Given the description of an element on the screen output the (x, y) to click on. 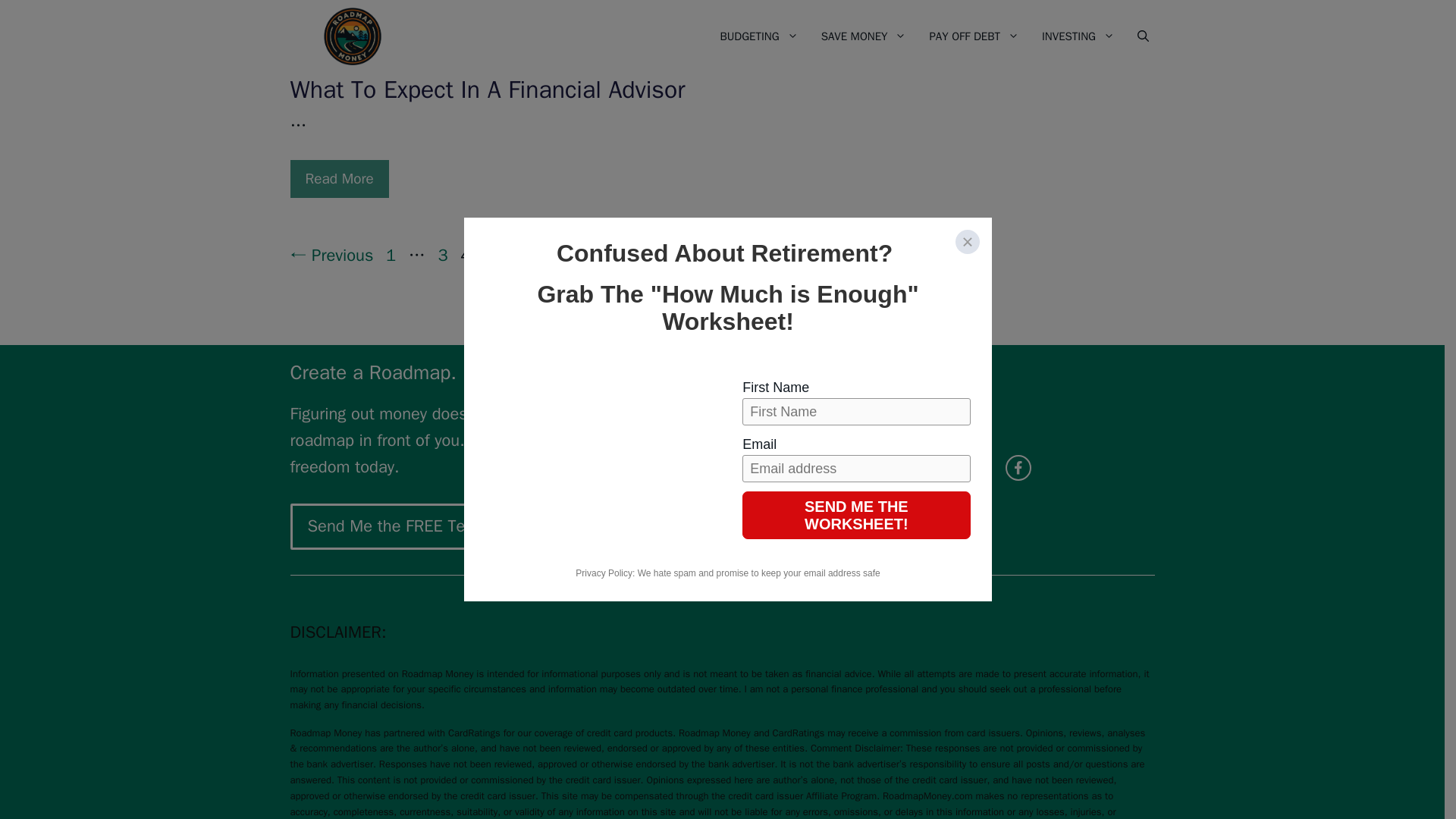
Read More (338, 178)
What To Expect In A Financial Advisor (338, 178)
Send Me the FREE Template! (413, 526)
INVESTING (1077, 36)
PAY OFF DEBT (973, 36)
What To Expect In A Financial Advisor (486, 89)
BUDGETING (758, 36)
SAVE MONEY (863, 36)
